Given the description of an element on the screen output the (x, y) to click on. 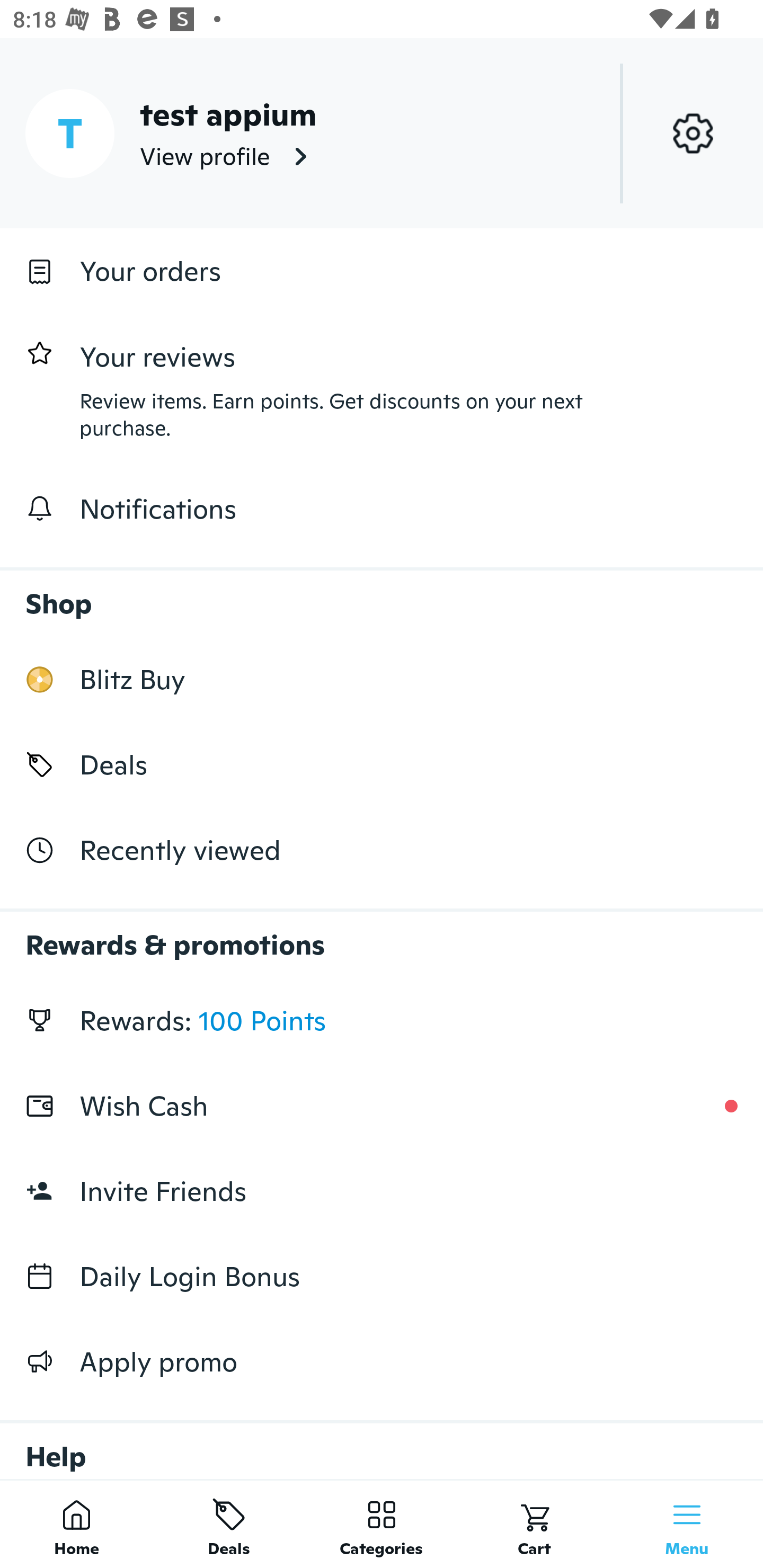
T test appium View profile (381, 132)
Your orders (381, 270)
Notifications (381, 508)
Shop (381, 593)
Blitz Buy (381, 679)
Deals (381, 764)
Recently viewed (381, 850)
Rewards & promotions (381, 935)
Rewards: 100 Points (381, 1020)
Wish Cash (381, 1106)
Invite Friends (381, 1190)
Daily Login Bonus (381, 1277)
Apply promo (381, 1361)
Help (381, 1441)
Home (76, 1523)
Deals (228, 1523)
Categories (381, 1523)
Cart (533, 1523)
Menu (686, 1523)
